Given the description of an element on the screen output the (x, y) to click on. 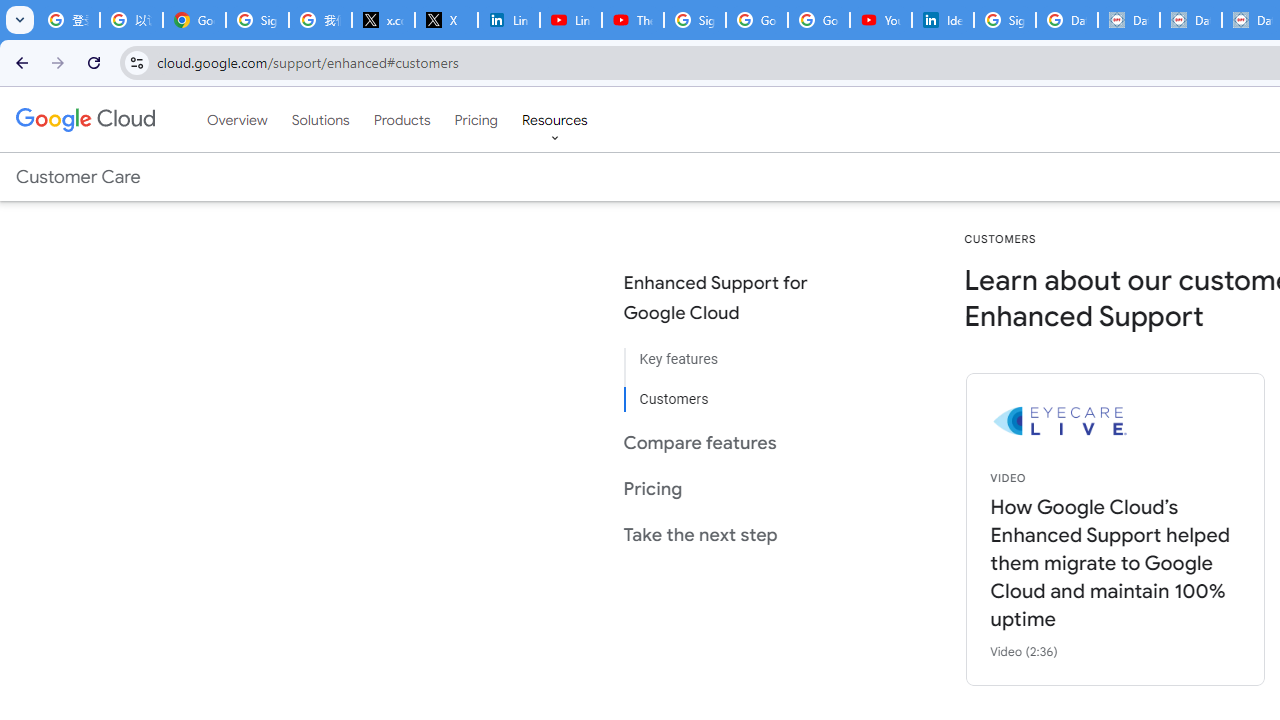
Data Privacy Framework (1190, 20)
Google Cloud (84, 119)
